Given the description of an element on the screen output the (x, y) to click on. 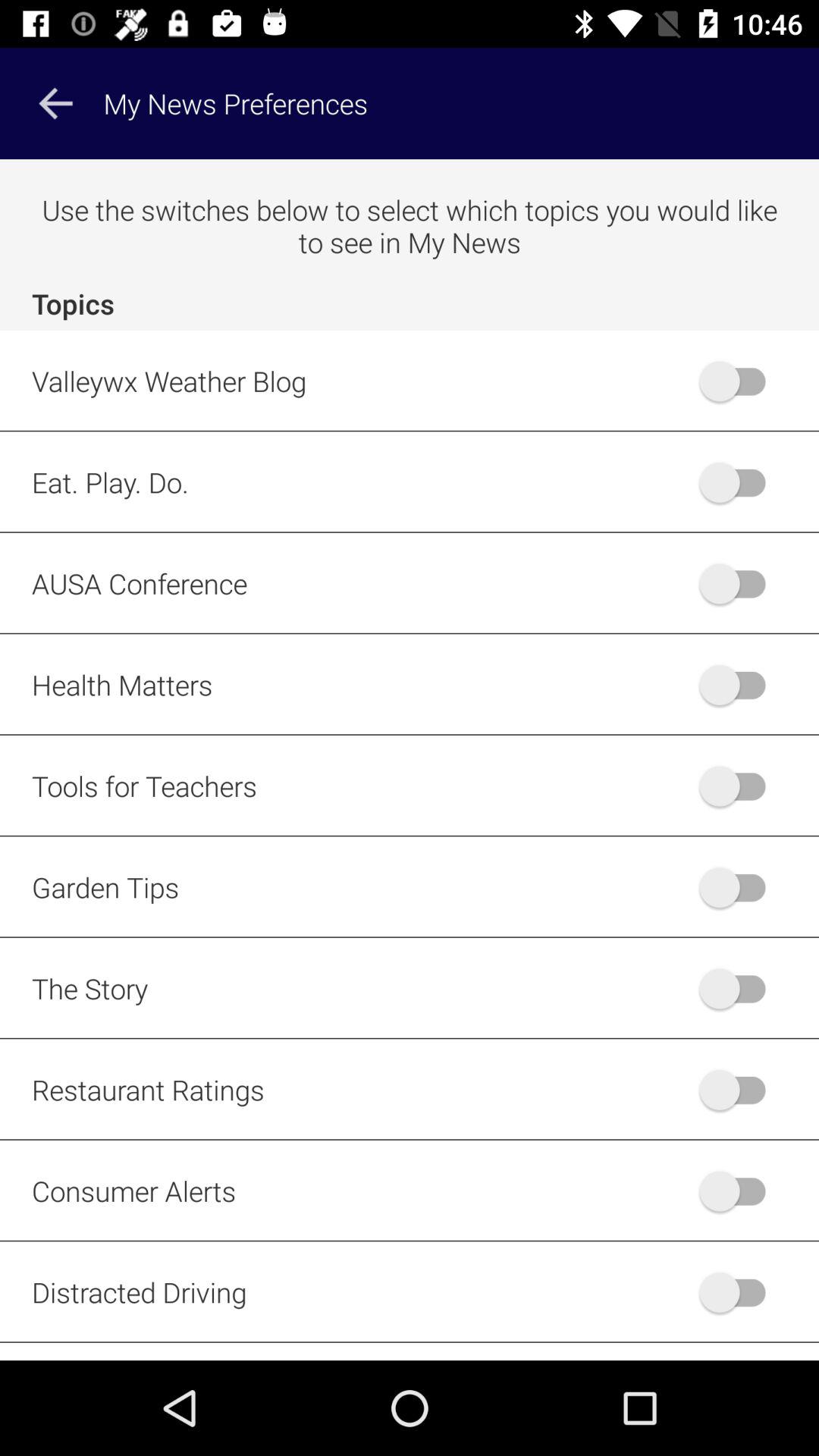
go to off abcen (739, 583)
